Given the description of an element on the screen output the (x, y) to click on. 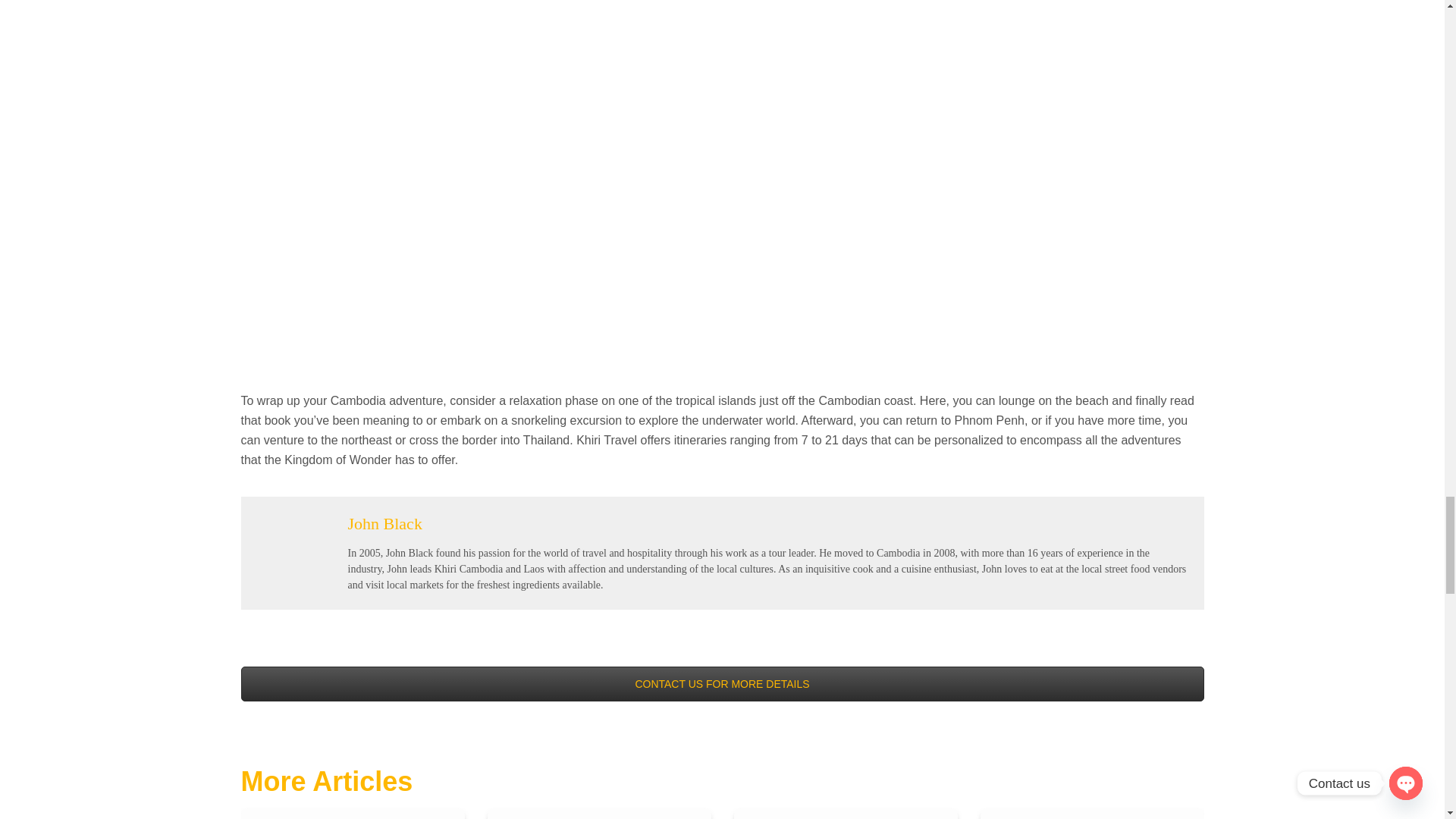
Contact Us (722, 683)
